Given the description of an element on the screen output the (x, y) to click on. 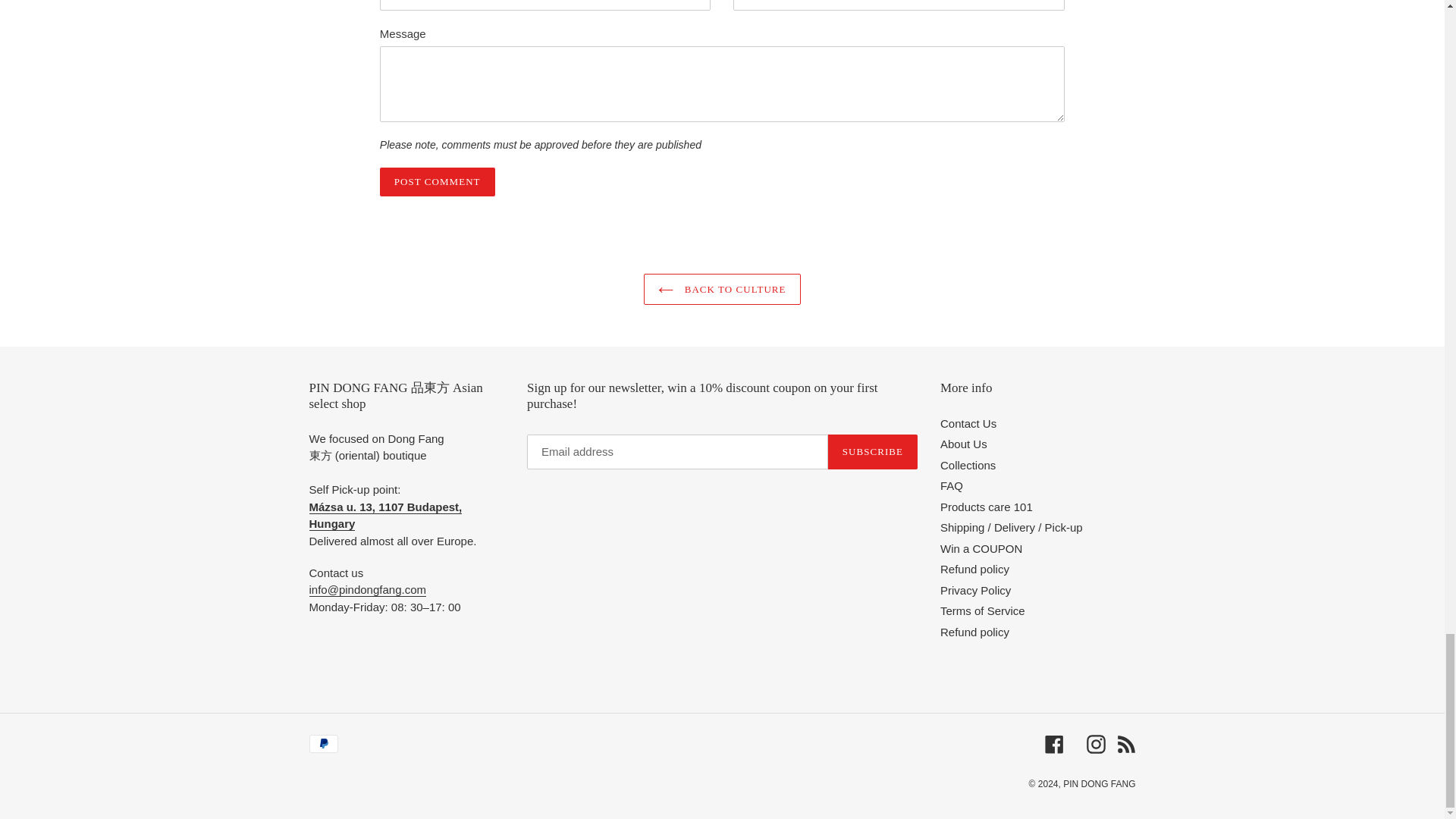
Post comment (437, 181)
